Given the description of an element on the screen output the (x, y) to click on. 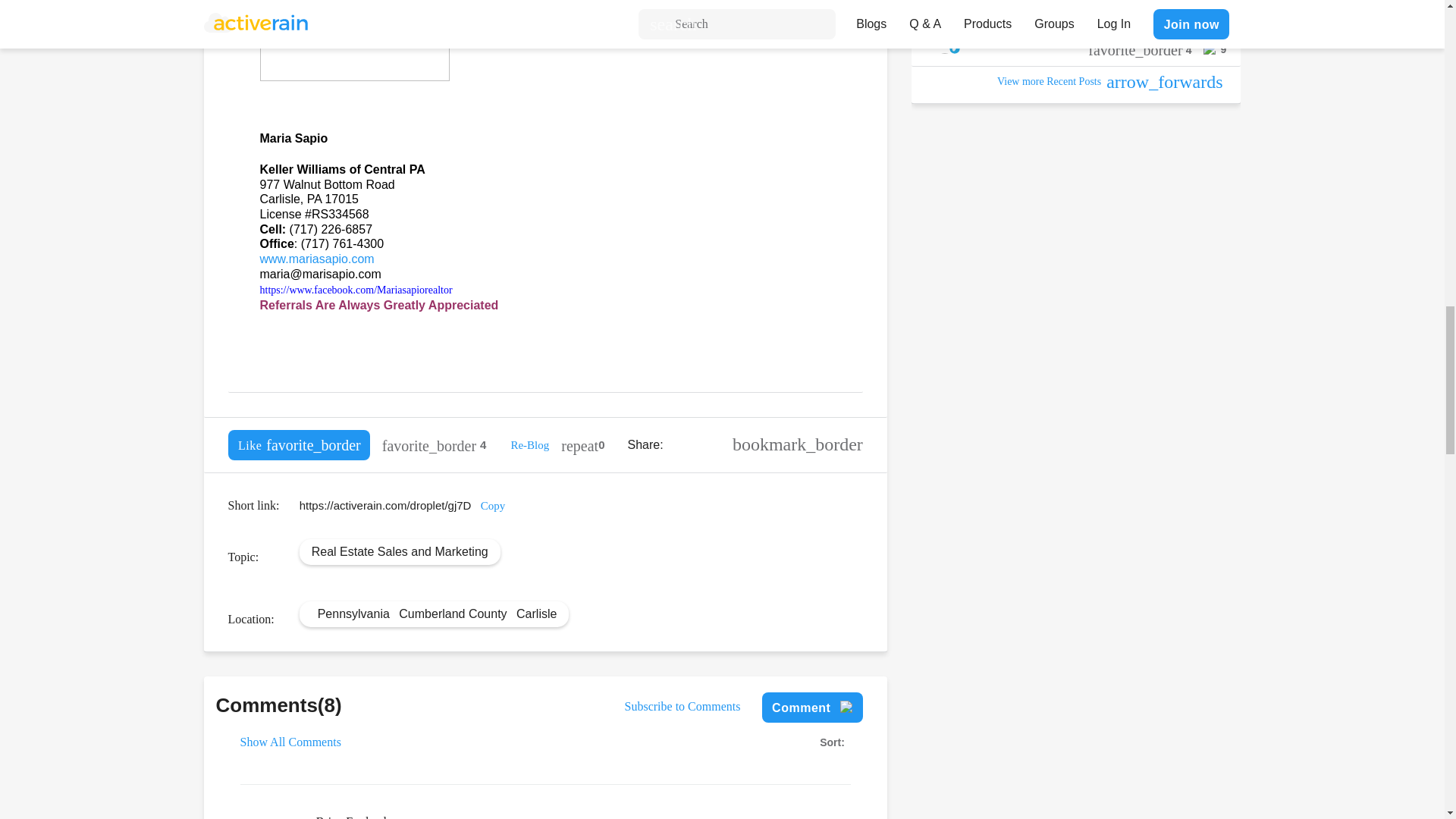
Pennsylvania (353, 613)
Re-Blog (529, 444)
This entry hasn't been re-blogged (582, 444)
repeat 0 (582, 444)
Real Estate Sales and Marketing (399, 551)
Copy (492, 505)
www.mariasapio.com (316, 258)
Cumberland County (452, 613)
